Given the description of an element on the screen output the (x, y) to click on. 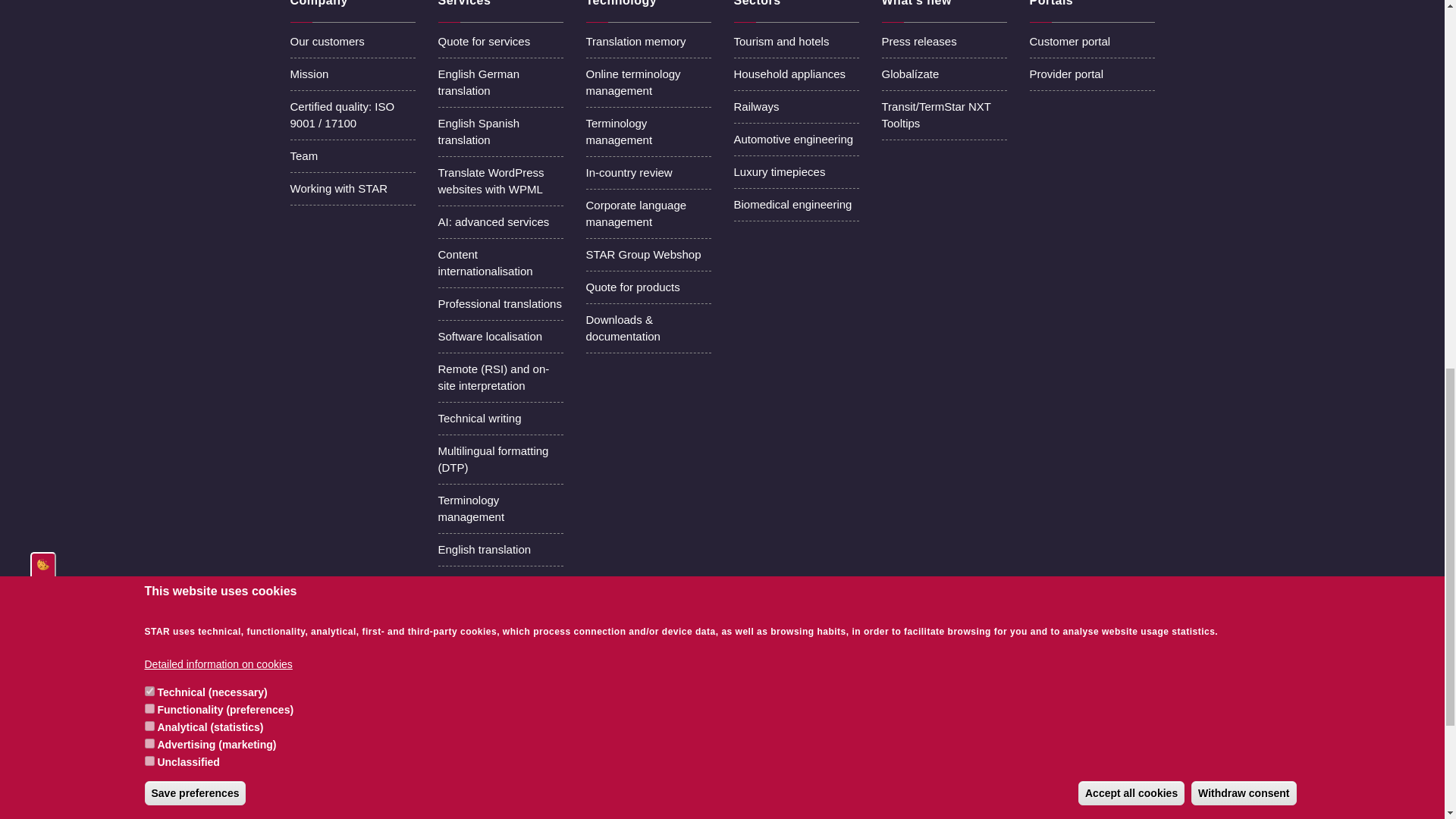
2278 (590, 794)
2276 (590, 773)
